Given the description of an element on the screen output the (x, y) to click on. 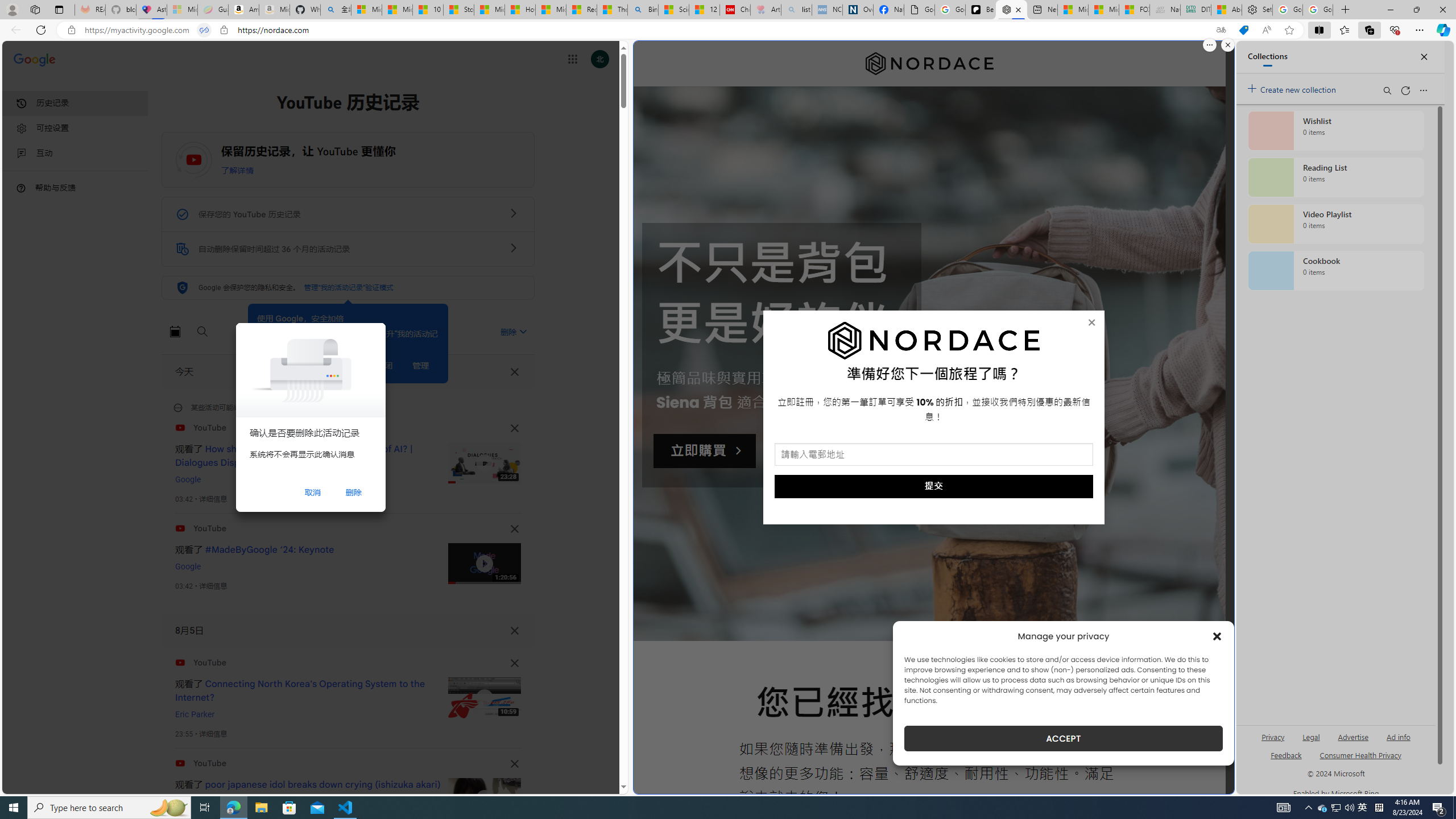
AutomationID: sb_feedback (1286, 754)
AutomationID: genId96 (1285, 759)
